Given the description of an element on the screen output the (x, y) to click on. 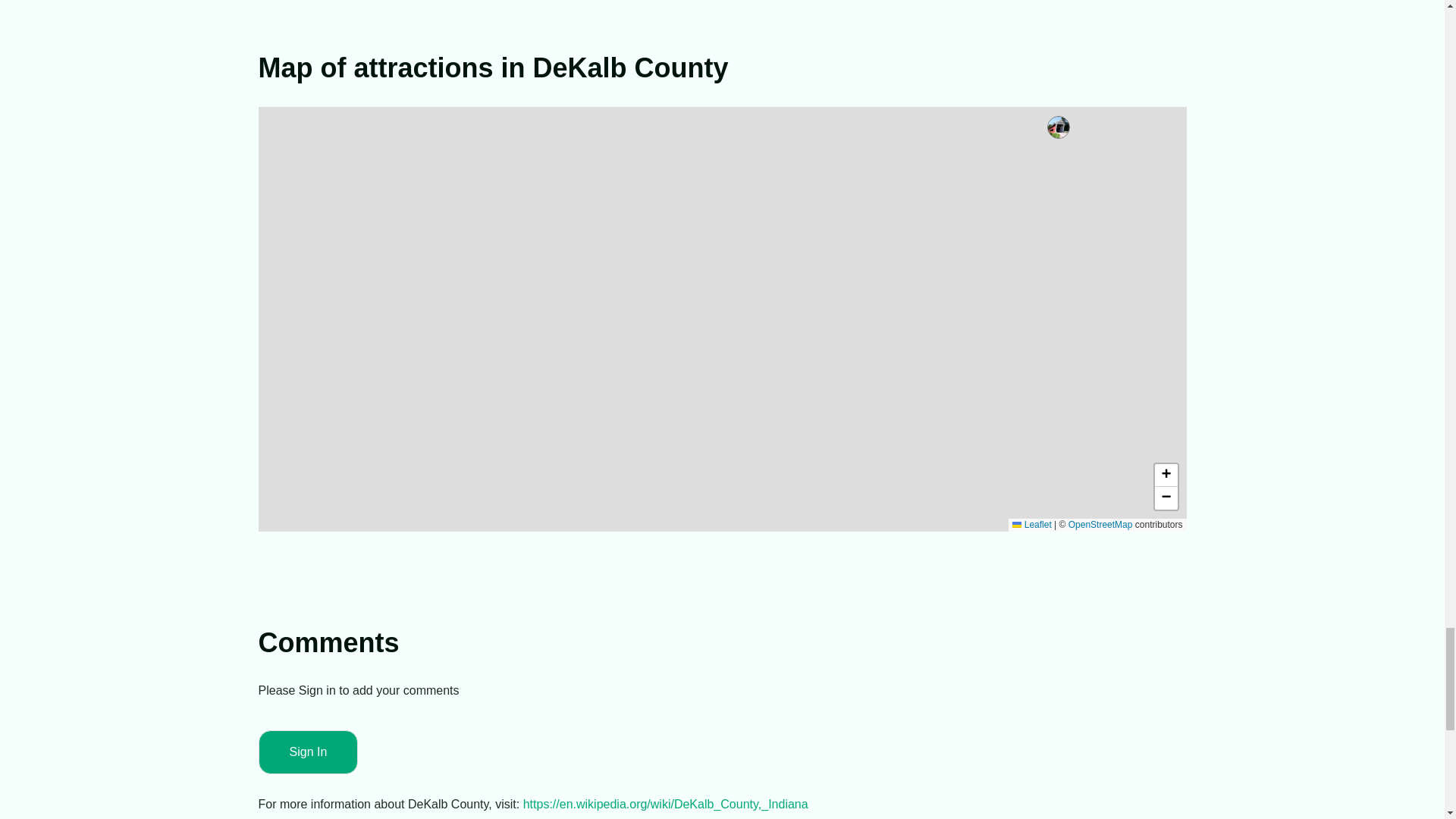
A JavaScript library for interactive maps (1031, 524)
Zoom out (1165, 497)
Zoom in (1165, 475)
